Given the description of an element on the screen output the (x, y) to click on. 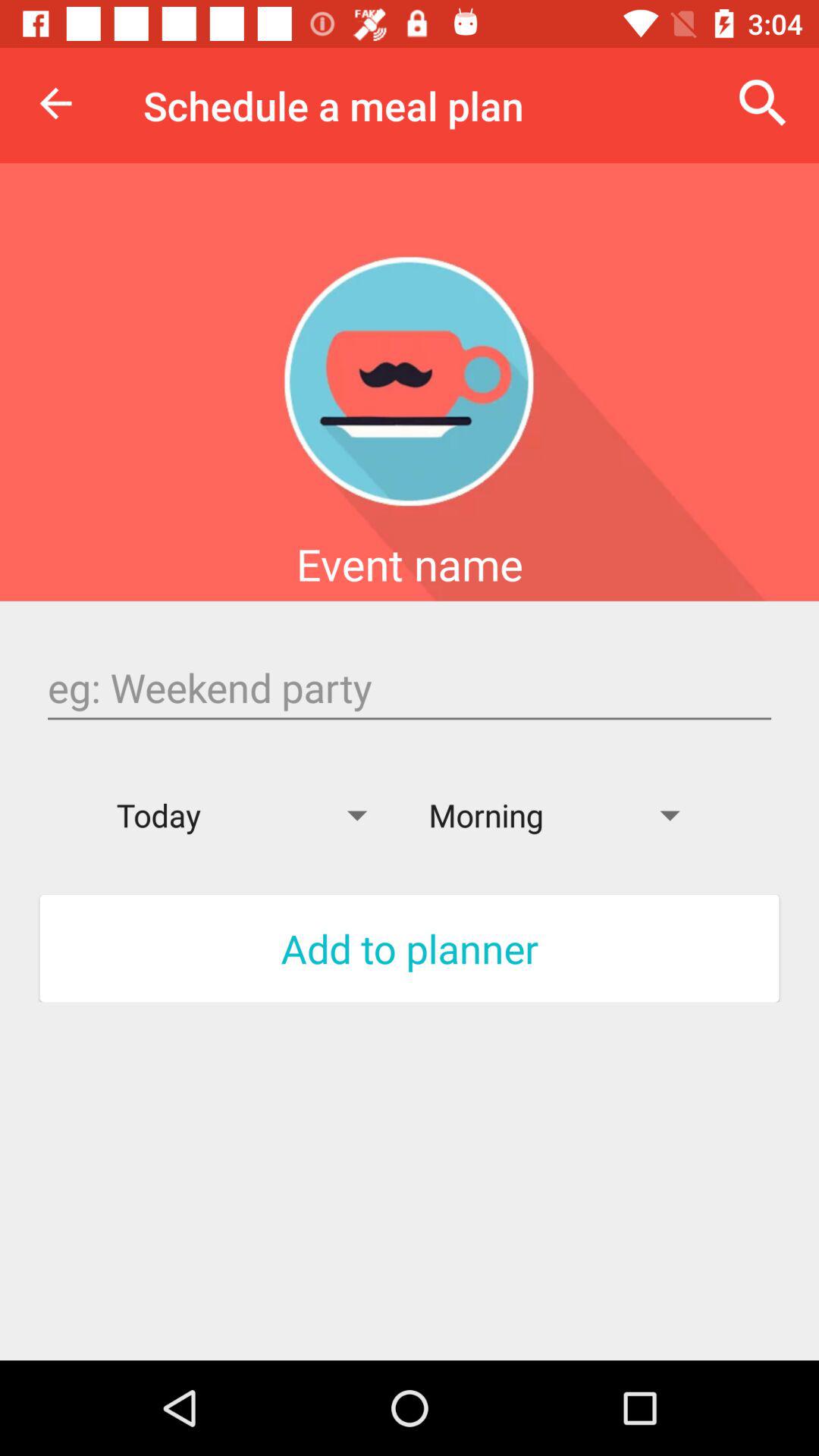
search (409, 687)
